Given the description of an element on the screen output the (x, y) to click on. 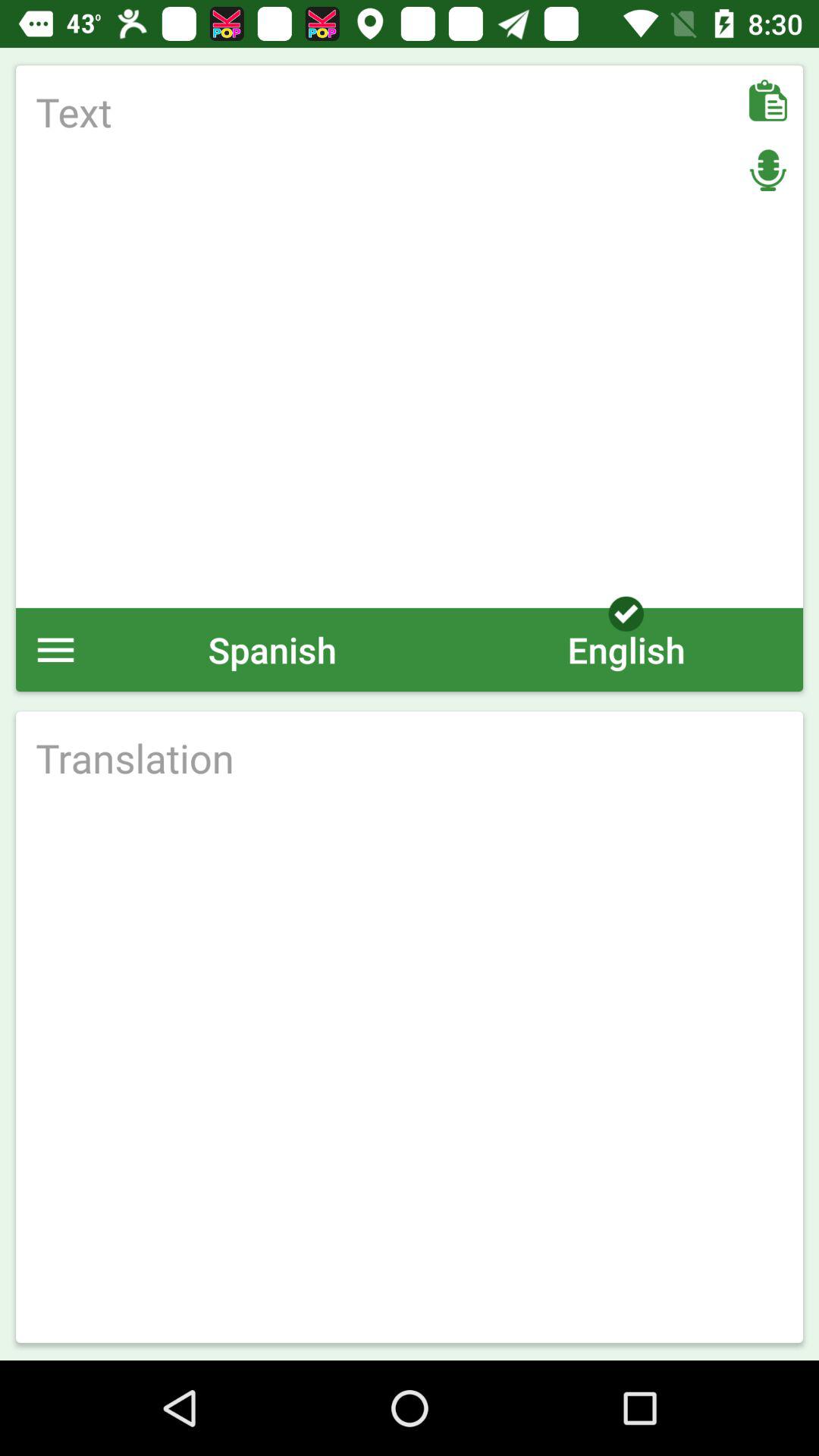
select text field (409, 336)
